Given the description of an element on the screen output the (x, y) to click on. 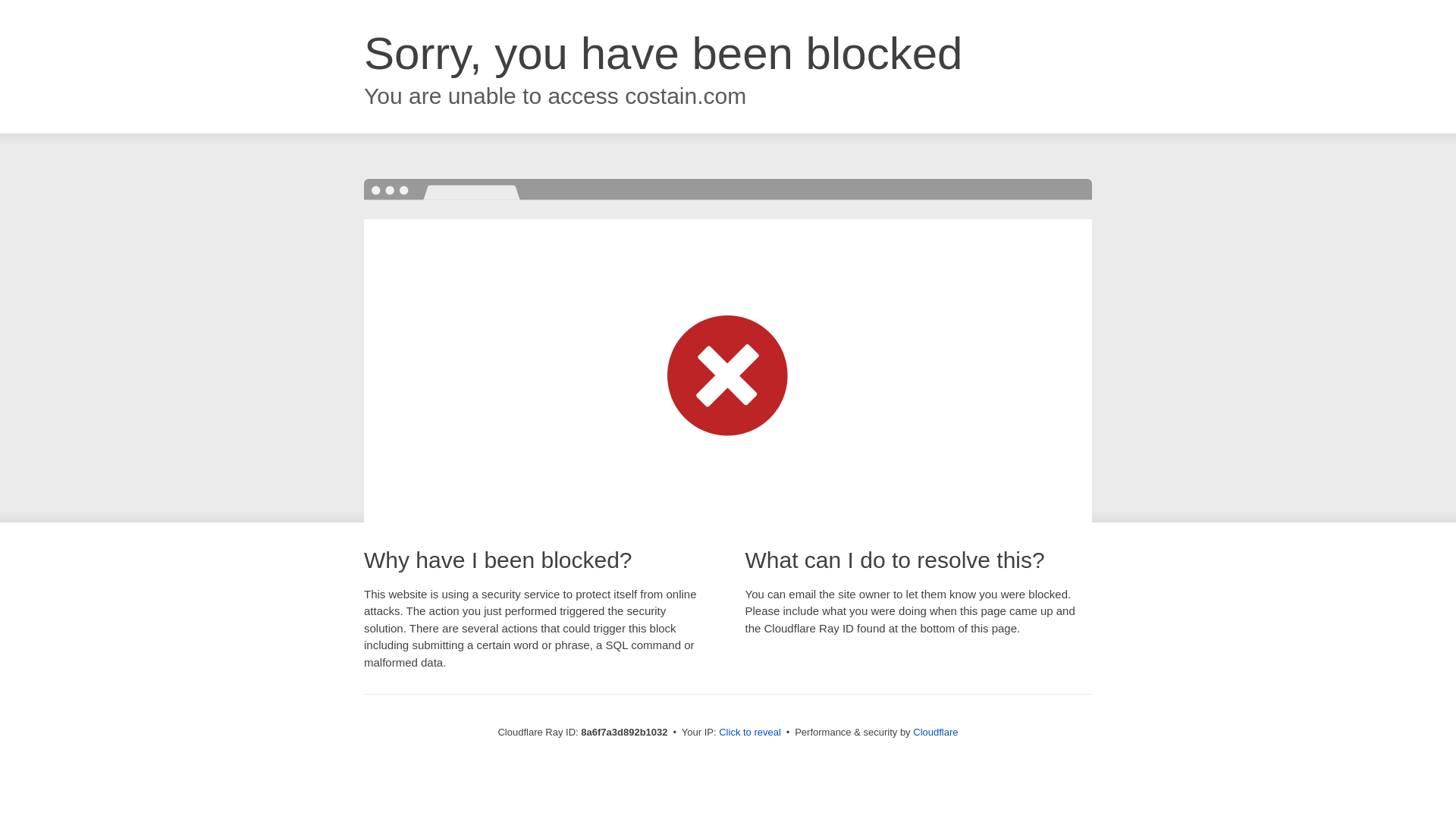
Cloudflare (935, 731)
Click to reveal (749, 732)
